Given the description of an element on the screen output the (x, y) to click on. 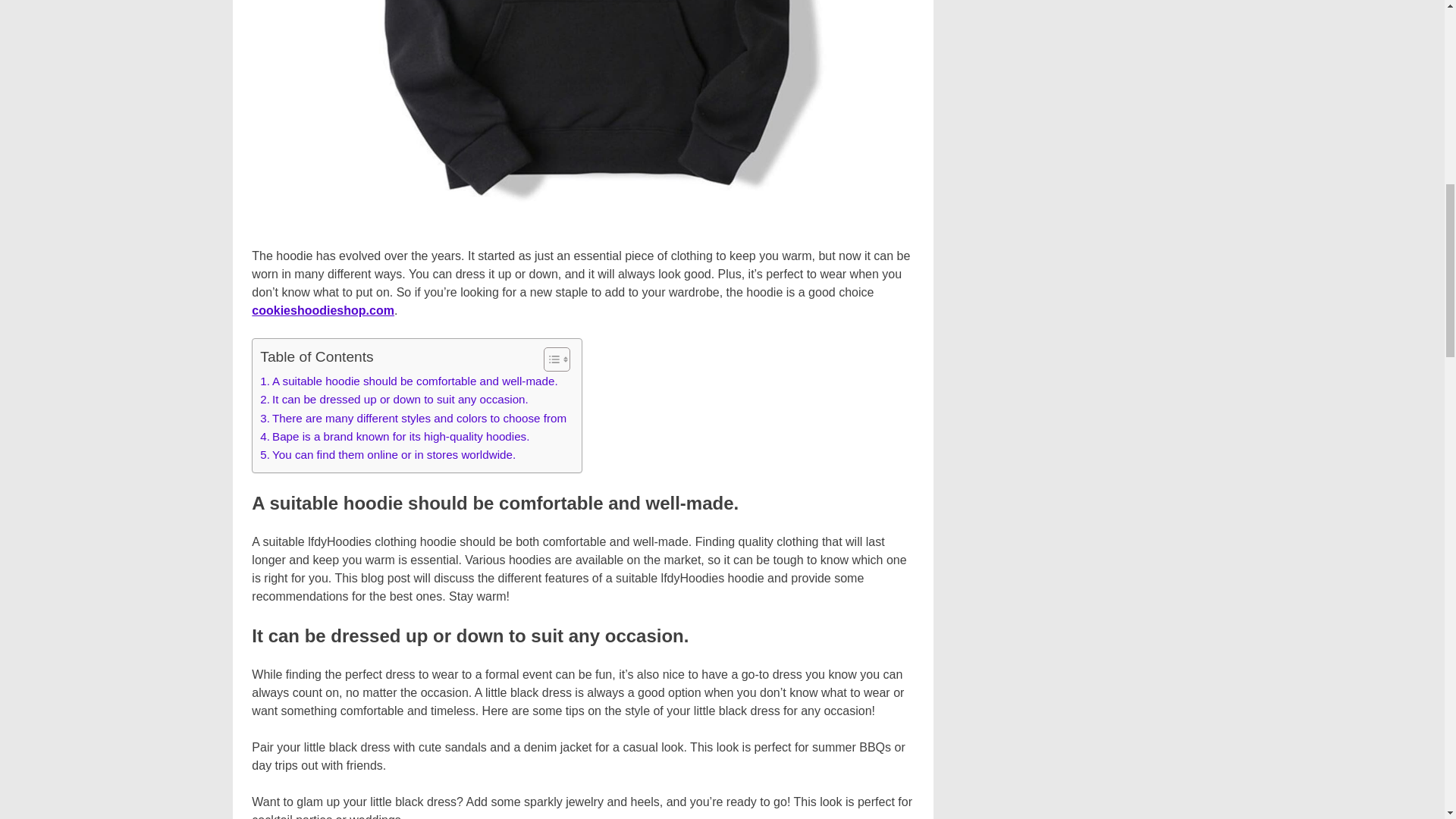
It can be dressed up or down to suit any occasion. (393, 399)
A suitable hoodie should be comfortable and well-made. (408, 381)
You can find them online or in stores worldwide. (387, 454)
A suitable hoodie should be comfortable and well-made. (408, 381)
It can be dressed up or down to suit any occasion. (393, 399)
There are many different styles and colors to choose from (413, 418)
Bape is a brand known for its high-quality hoodies. (394, 436)
Bape is a brand known for its high-quality hoodies. (394, 436)
cookieshoodieshop.com (322, 309)
You can find them online or in stores worldwide. (387, 454)
There are many different styles and colors to choose from (413, 418)
